Given the description of an element on the screen output the (x, y) to click on. 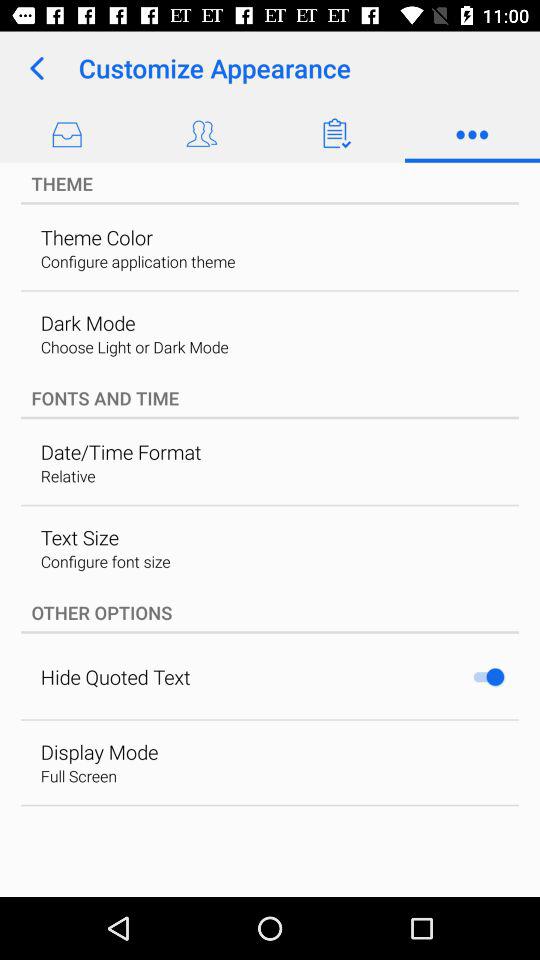
launch the text size item (79, 537)
